Given the description of an element on the screen output the (x, y) to click on. 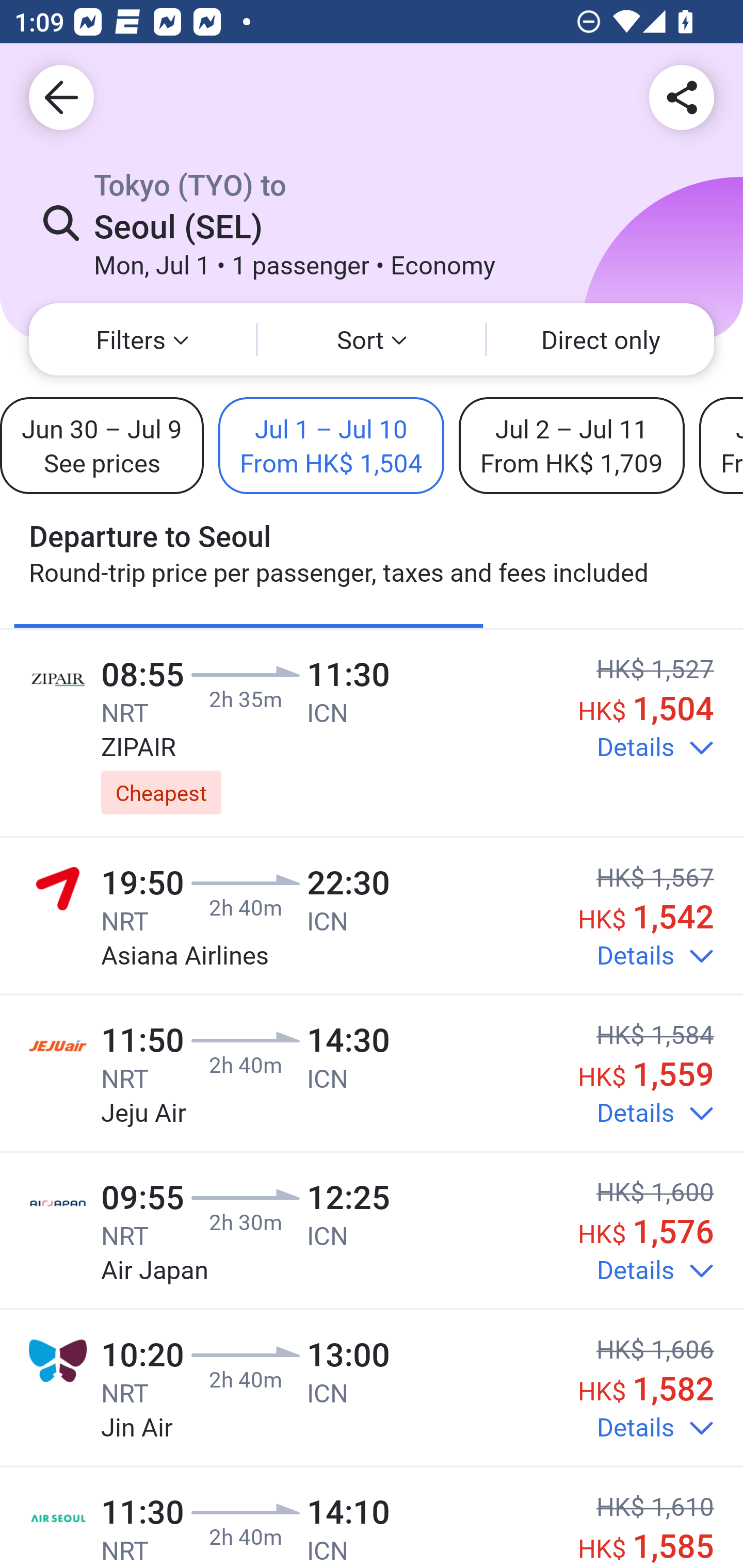
Filters (141, 339)
Sort (371, 339)
Direct only (600, 339)
Jun 30 – Jul 9 See prices (101, 444)
Jul 1 – Jul 10 From HK$ 1,504 (331, 444)
Jul 2 – Jul 11 From HK$ 1,709 (571, 444)
